Given the description of an element on the screen output the (x, y) to click on. 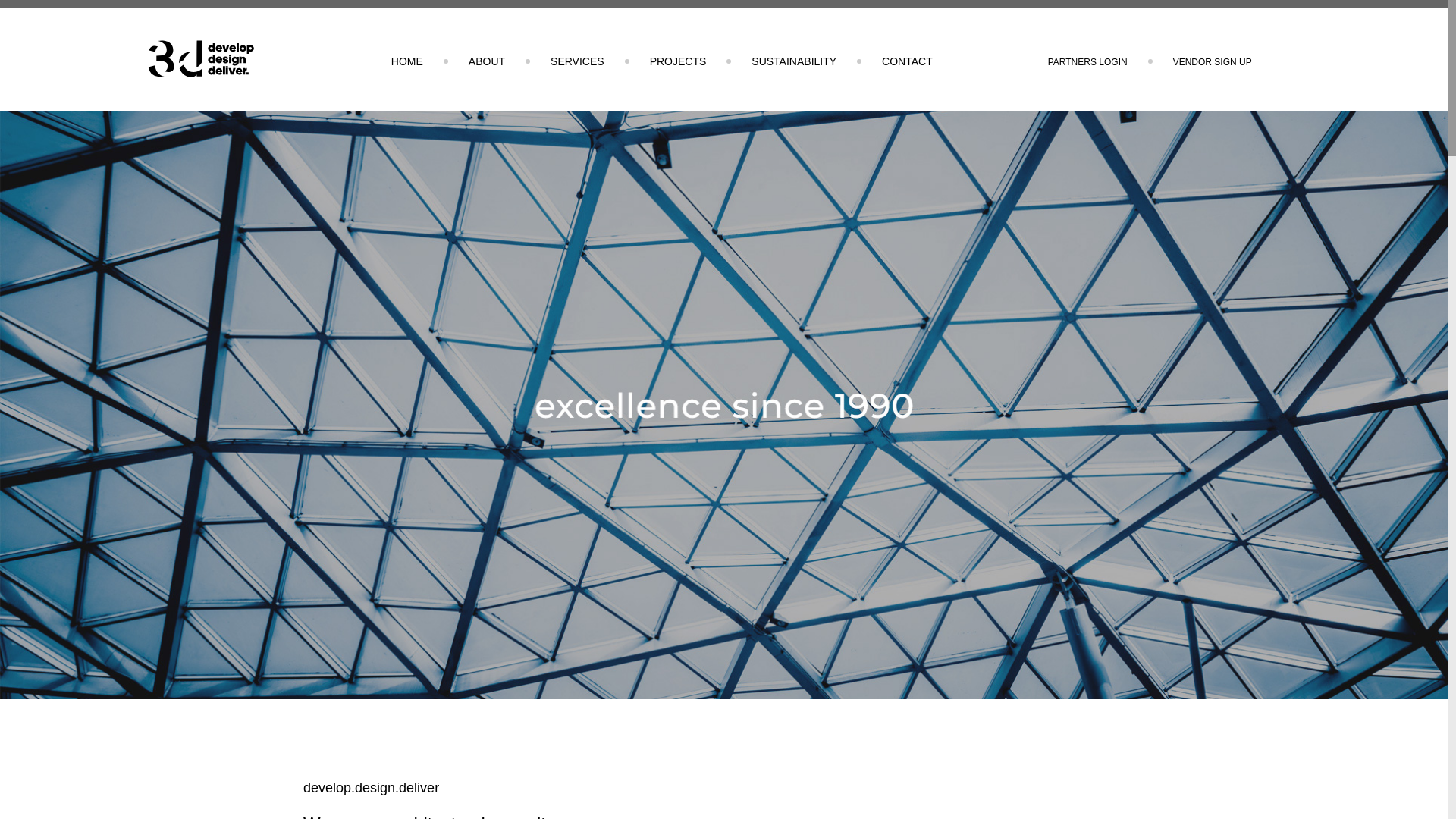
CONTACT Element type: text (906, 61)
ABOUT Element type: text (486, 61)
PROJECTS Element type: text (677, 61)
VENDOR SIGN UP Element type: text (1212, 61)
PARTNERS LOGIN Element type: text (1087, 61)
SERVICES Element type: text (577, 61)
HOME Element type: text (407, 61)
SUSTAINABILITY Element type: text (793, 61)
